Given the description of an element on the screen output the (x, y) to click on. 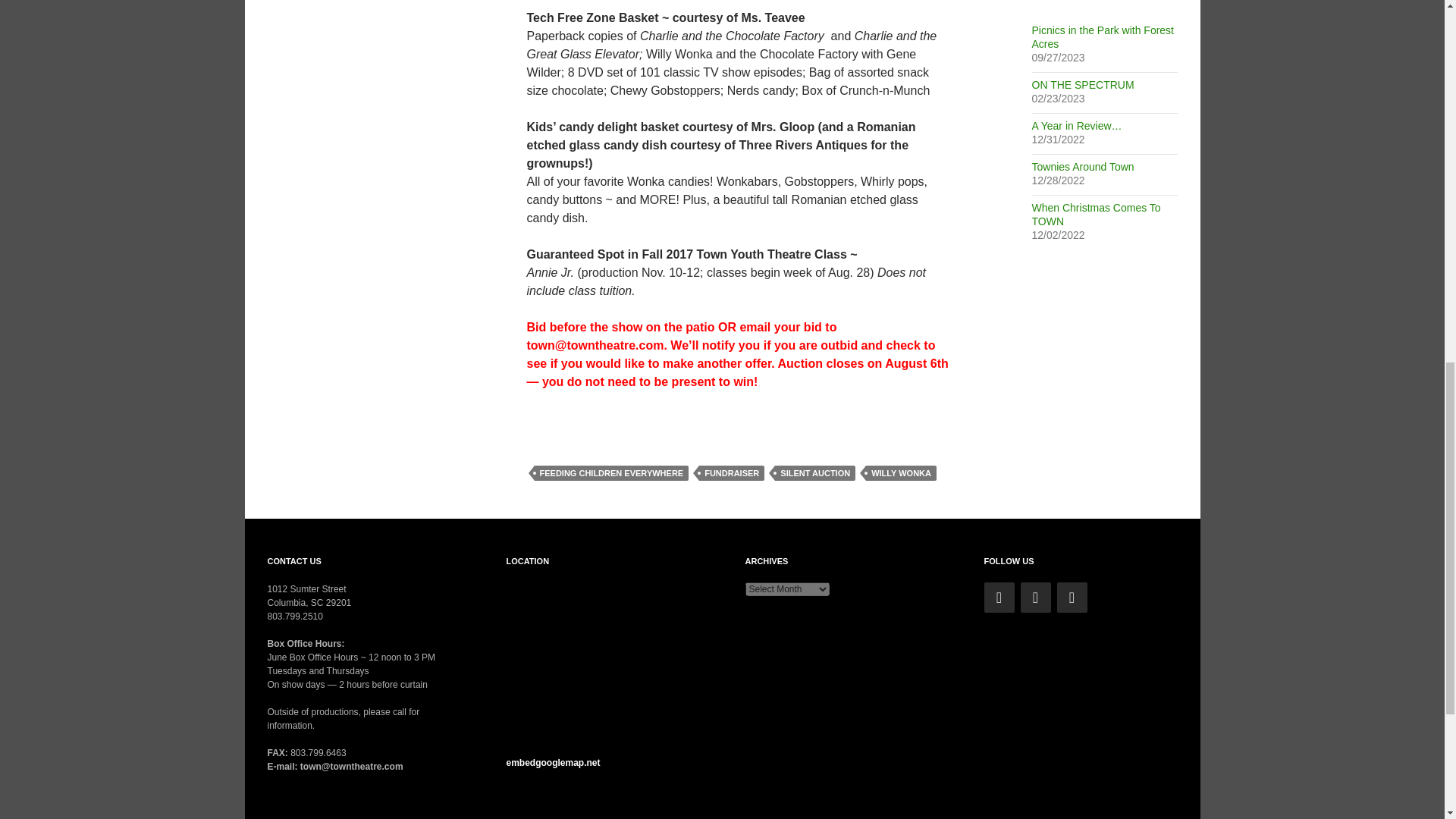
Instagram (1072, 597)
Facebook (1035, 597)
FEEDING CHILDREN EVERYWHERE (611, 473)
Twitter (999, 597)
